Given the description of an element on the screen output the (x, y) to click on. 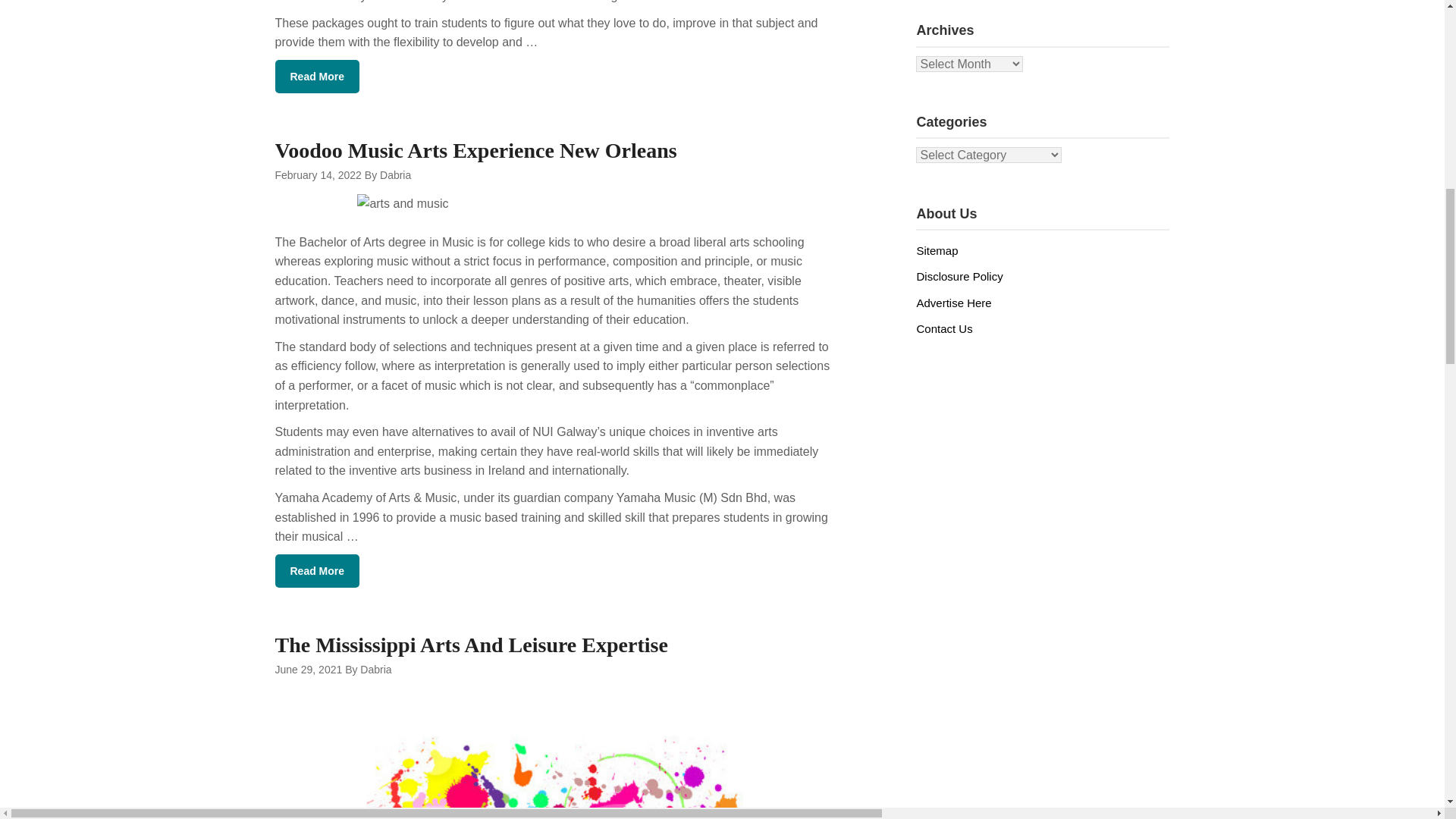
The Mississippi Arts And Leisure Expertise (470, 644)
Voodoo Music Arts Experience New Orleans (476, 150)
Read More (317, 571)
Read More (317, 76)
June 29, 2021 (308, 669)
February 14, 2022 (318, 174)
